Given the description of an element on the screen output the (x, y) to click on. 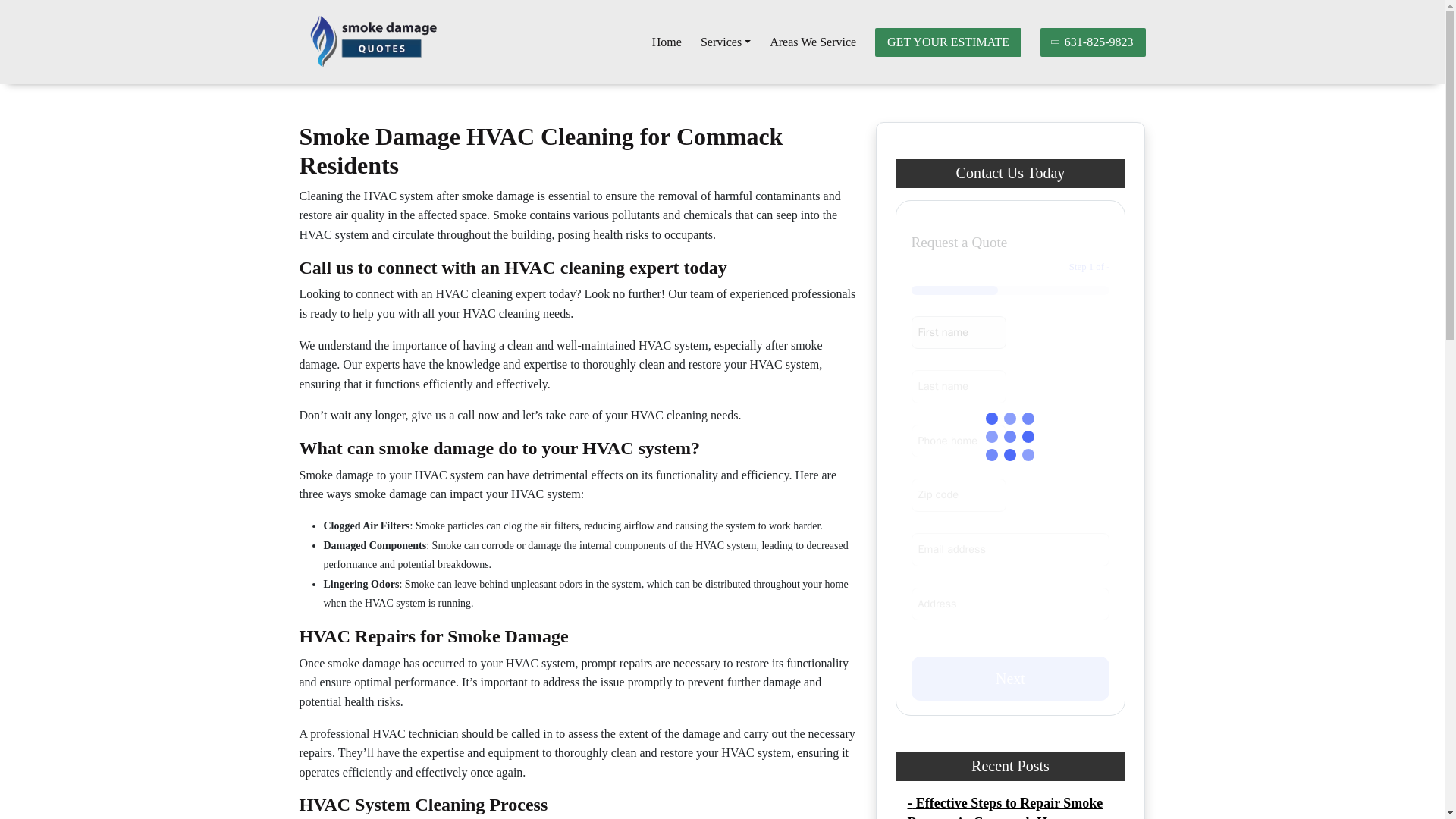
GET YOUR ESTIMATE (948, 41)
Areas We Service (813, 42)
Next (1010, 678)
- Effective Steps to Repair Smoke Damage in Commack Homes (1004, 807)
Services (725, 42)
Home (666, 42)
Home (666, 42)
Areas We Service (813, 42)
631-825-9823 (1093, 41)
Services (725, 42)
